Given the description of an element on the screen output the (x, y) to click on. 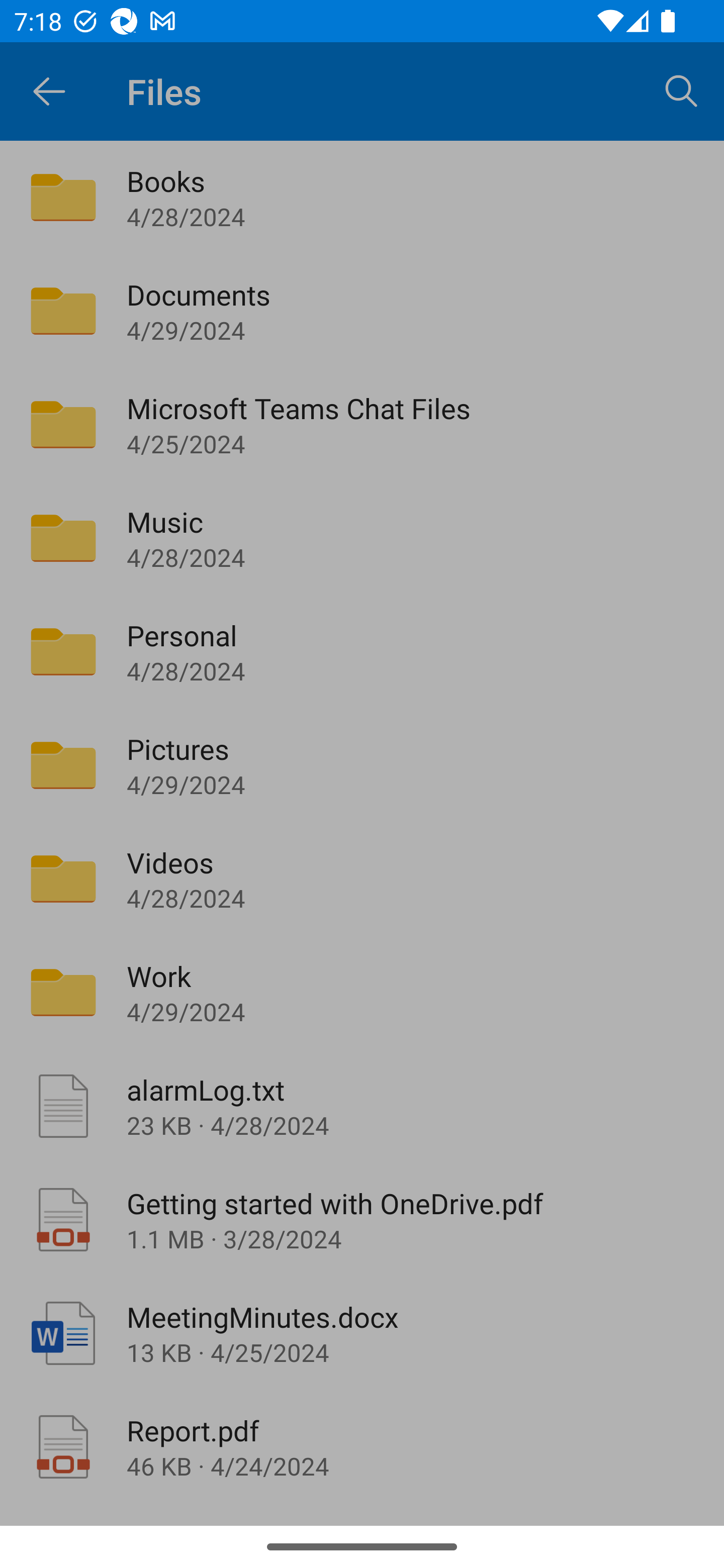
Navigate up (49, 91)
Search (681, 90)
Books 4/28/2024 (362, 197)
Documents 4/29/2024 (362, 311)
Microsoft Teams Chat Files 4/25/2024 (362, 424)
Music 4/28/2024 (362, 537)
Personal 4/28/2024 (362, 651)
Pictures 4/29/2024 (362, 764)
Videos 4/28/2024 (362, 878)
Work 4/29/2024 (362, 992)
alarmLog.txt 23 KB · 4/28/2024 (362, 1105)
MeetingMinutes.docx 13 KB · 4/25/2024 (362, 1333)
Report.pdf 46 KB · 4/24/2024 (362, 1446)
